Given the description of an element on the screen output the (x, y) to click on. 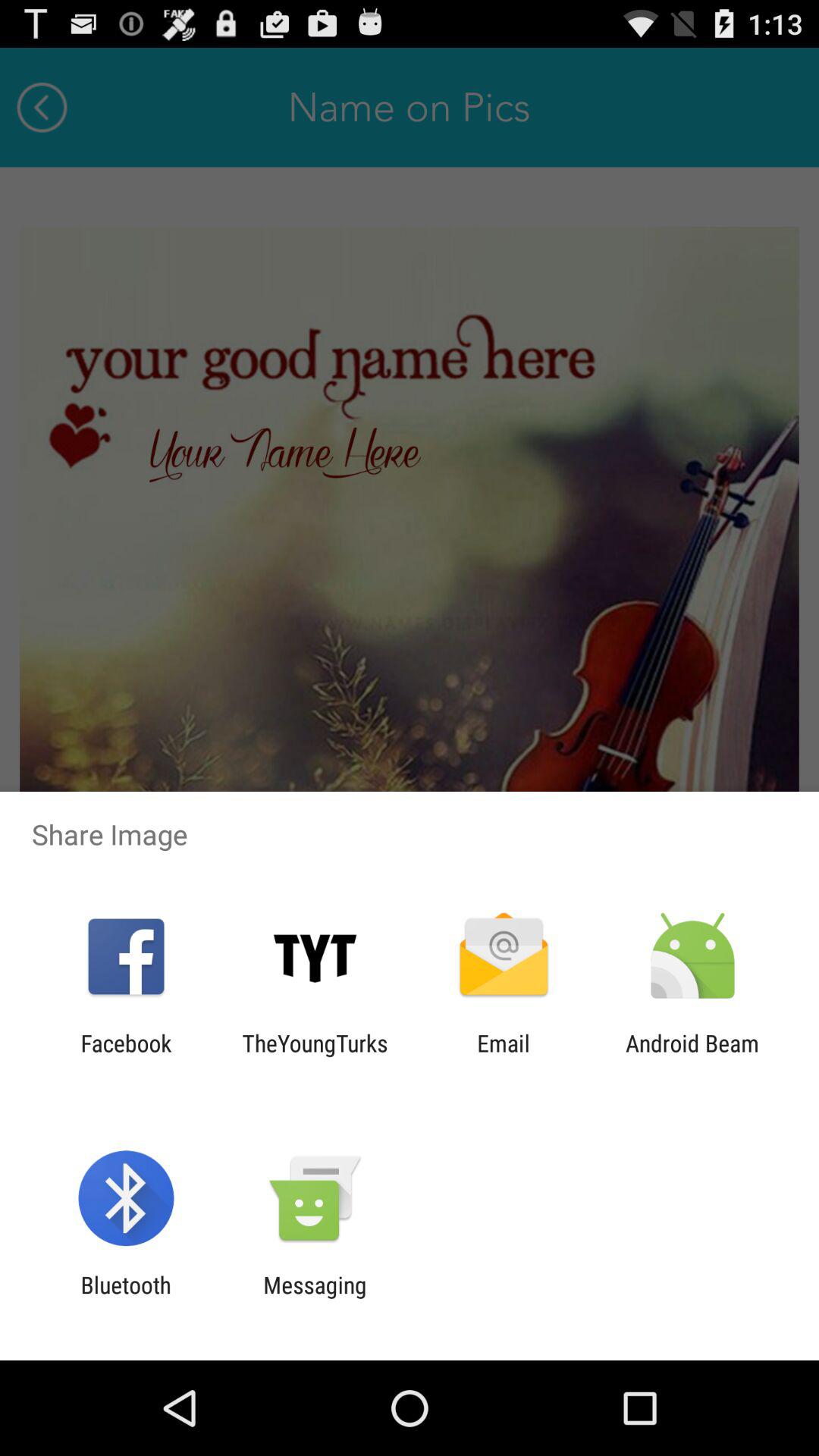
launch the item next to the messaging icon (125, 1298)
